Given the description of an element on the screen output the (x, y) to click on. 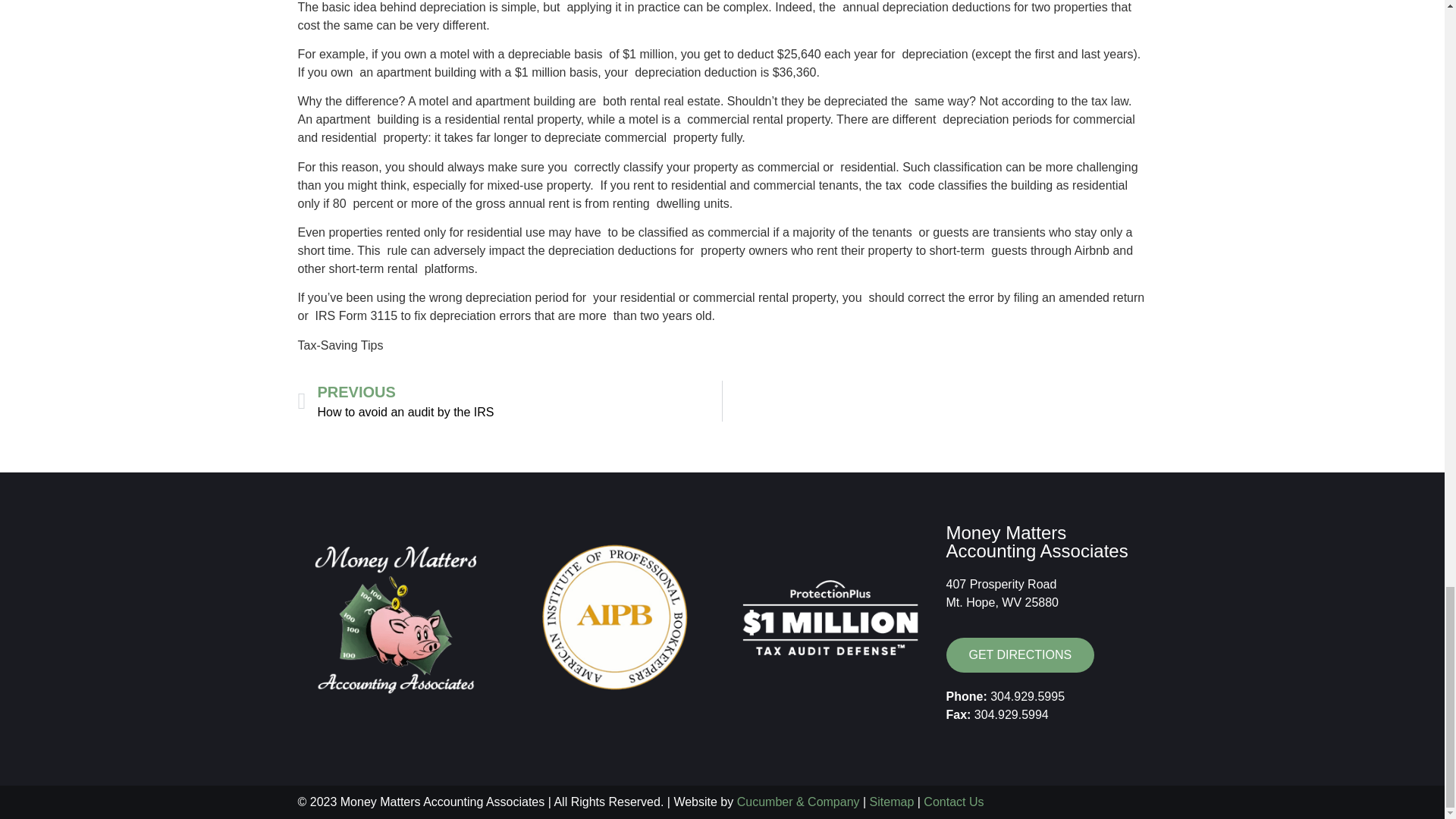
GET DIRECTIONS (1020, 655)
Sitemap (891, 801)
Contact Us (953, 801)
